Given the description of an element on the screen output the (x, y) to click on. 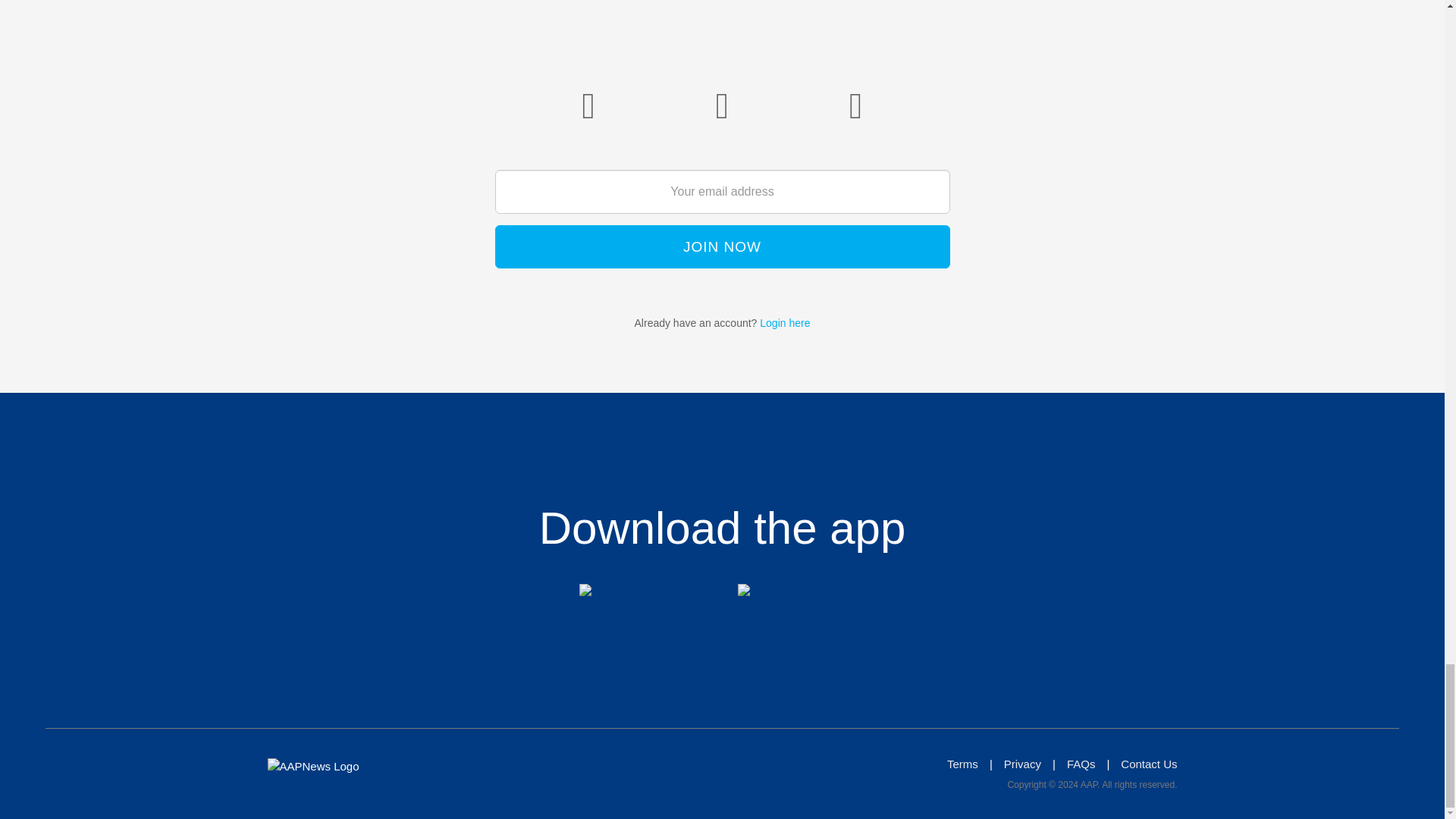
Terms (962, 763)
Privacy (1022, 763)
FAQs (1081, 763)
Contact Us (1148, 763)
Login here (784, 322)
JOIN NOW (722, 246)
